Given the description of an element on the screen output the (x, y) to click on. 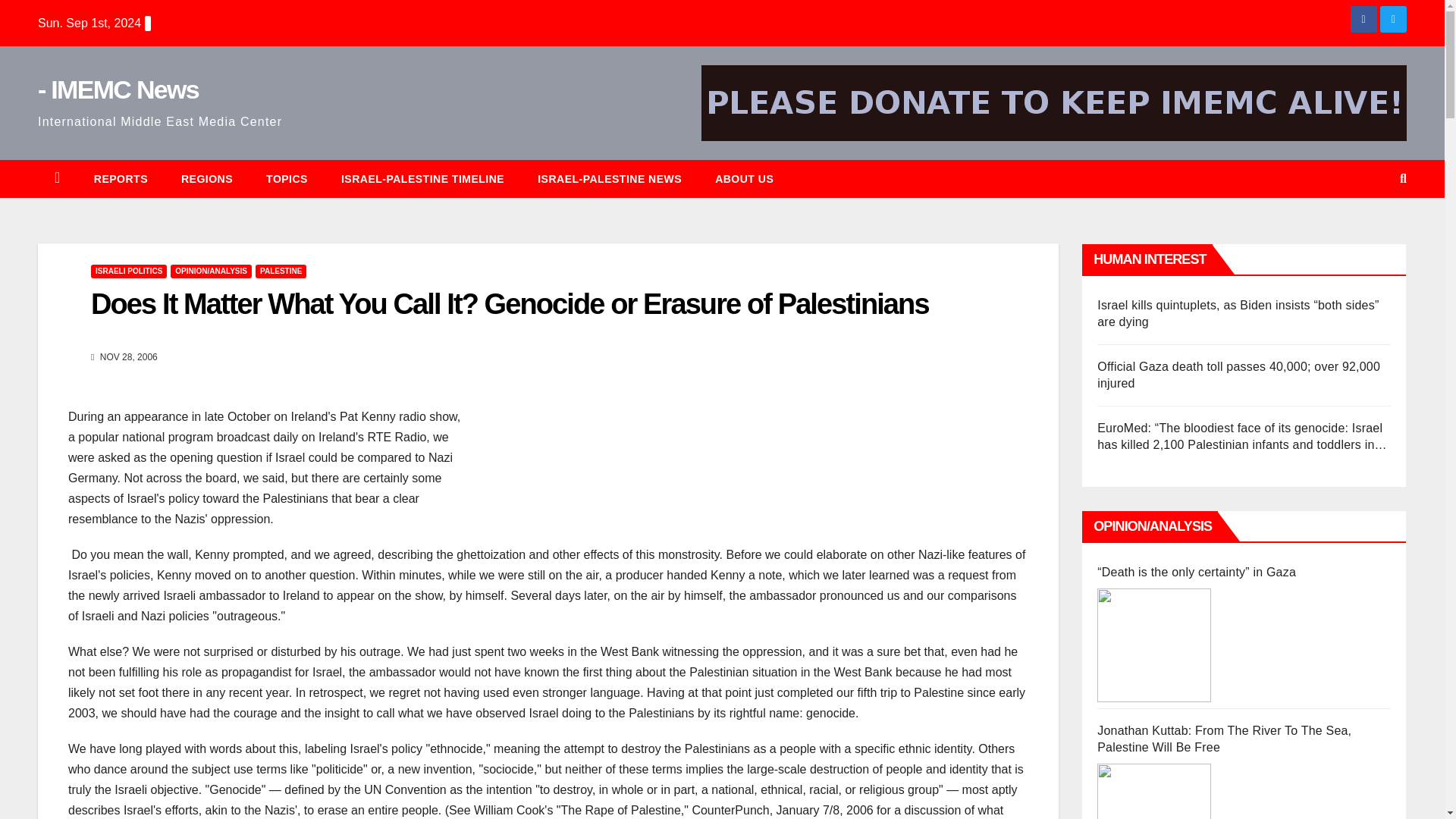
TOPICS (286, 178)
Reports (120, 178)
REPORTS (120, 178)
Regions (206, 178)
REGIONS (206, 178)
- IMEMC News (117, 89)
